Given the description of an element on the screen output the (x, y) to click on. 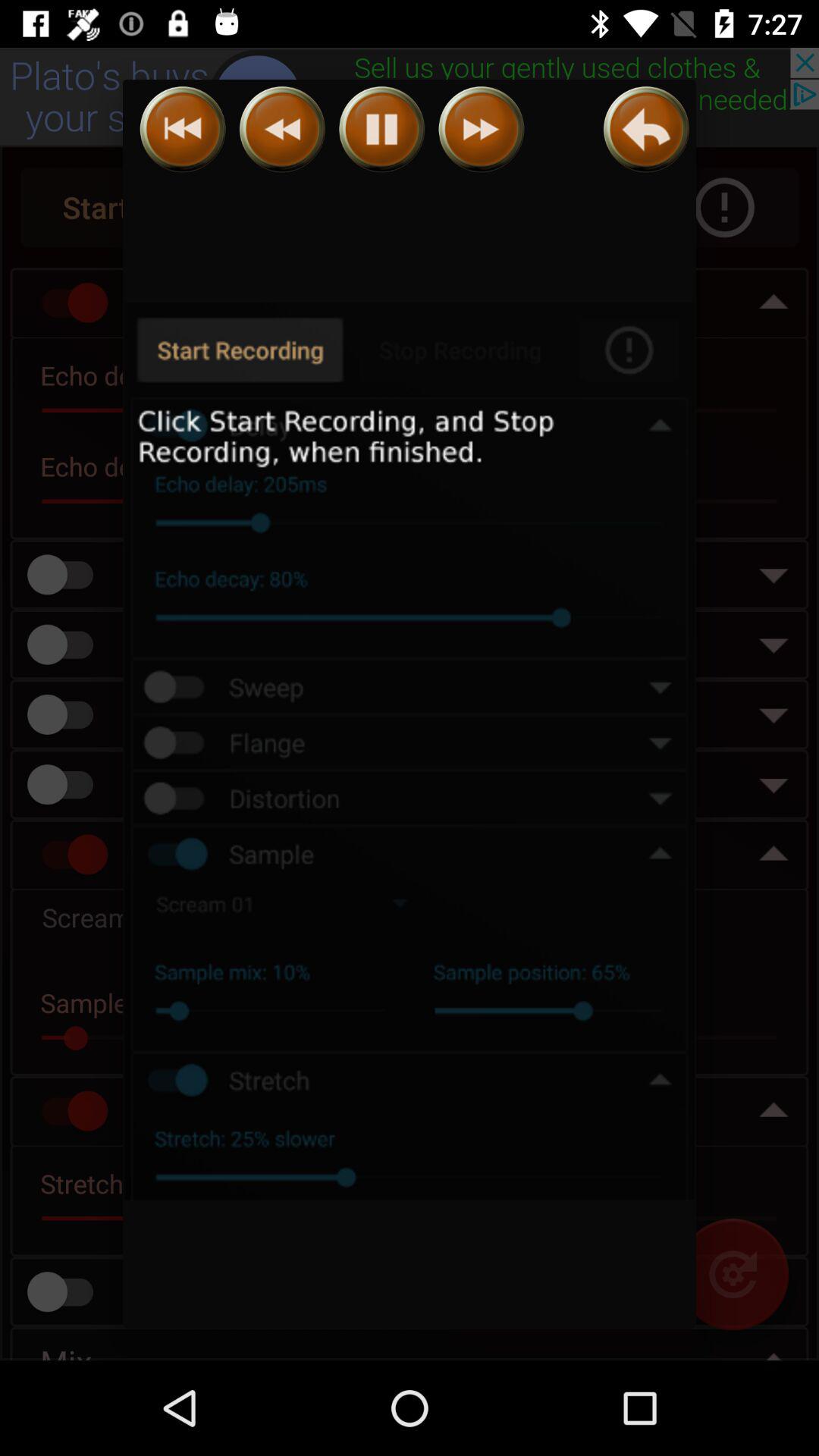
rewind (282, 129)
